Given the description of an element on the screen output the (x, y) to click on. 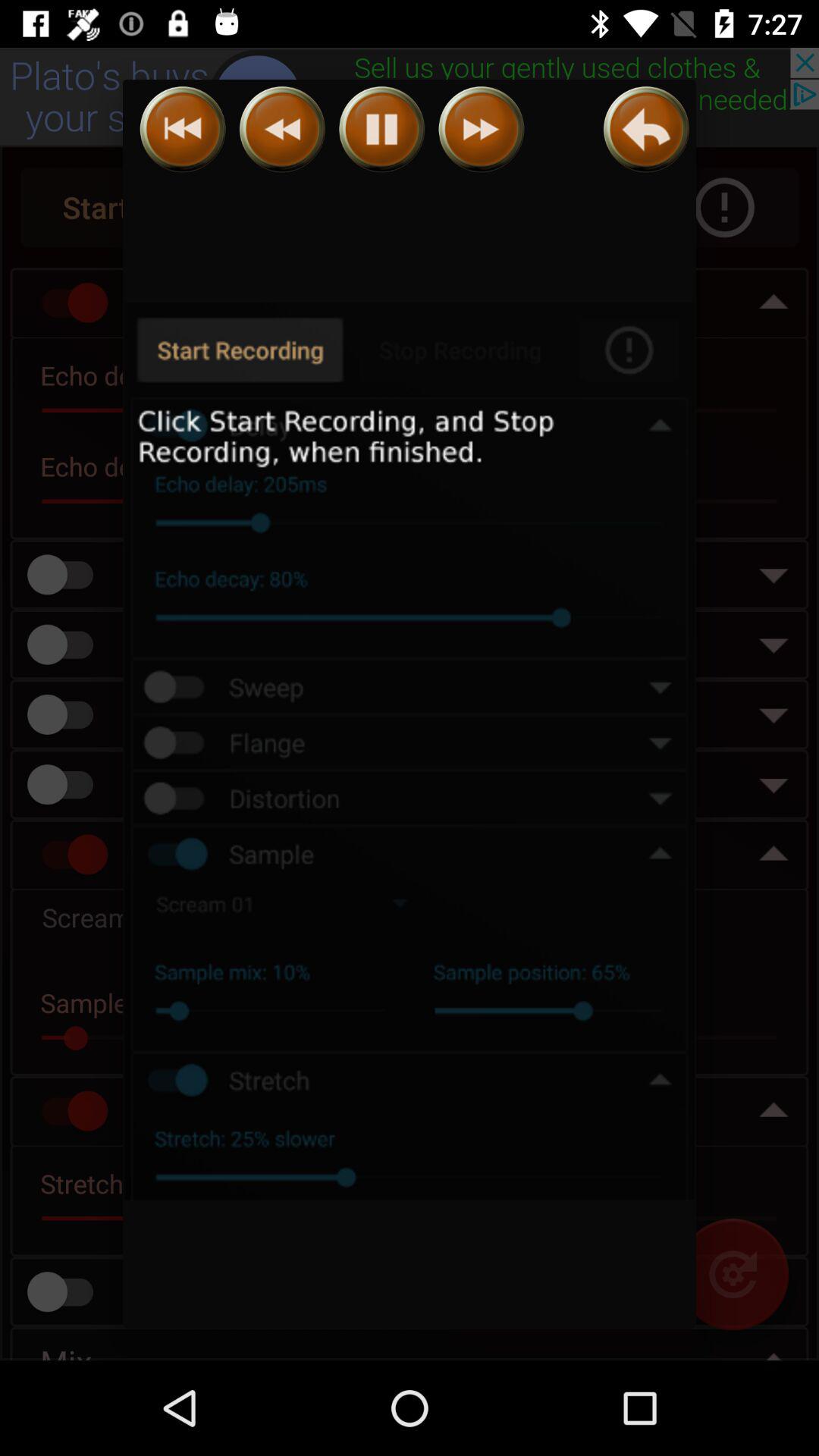
rewind (282, 129)
